Given the description of an element on the screen output the (x, y) to click on. 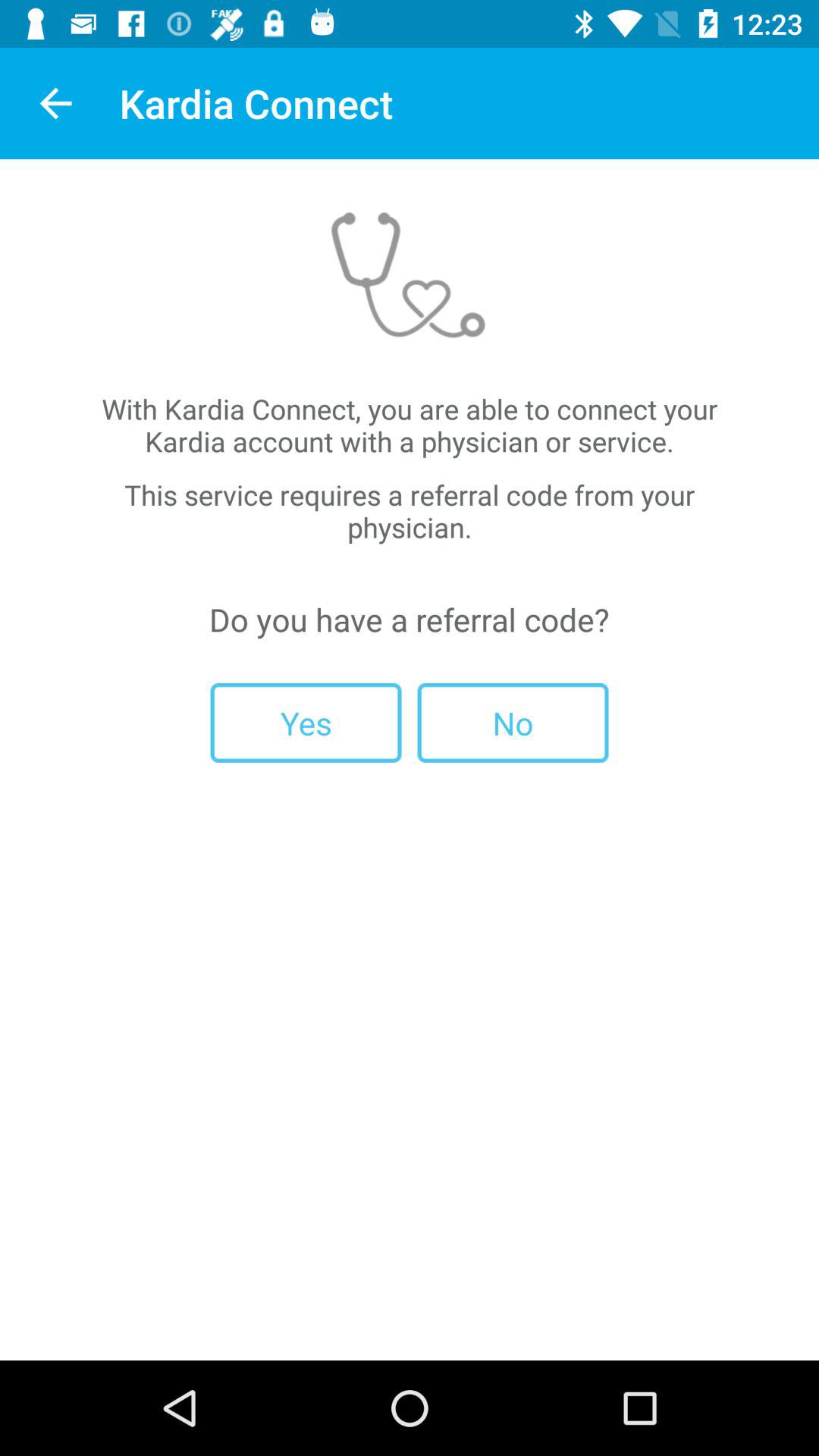
choose the yes (305, 722)
